Given the description of an element on the screen output the (x, y) to click on. 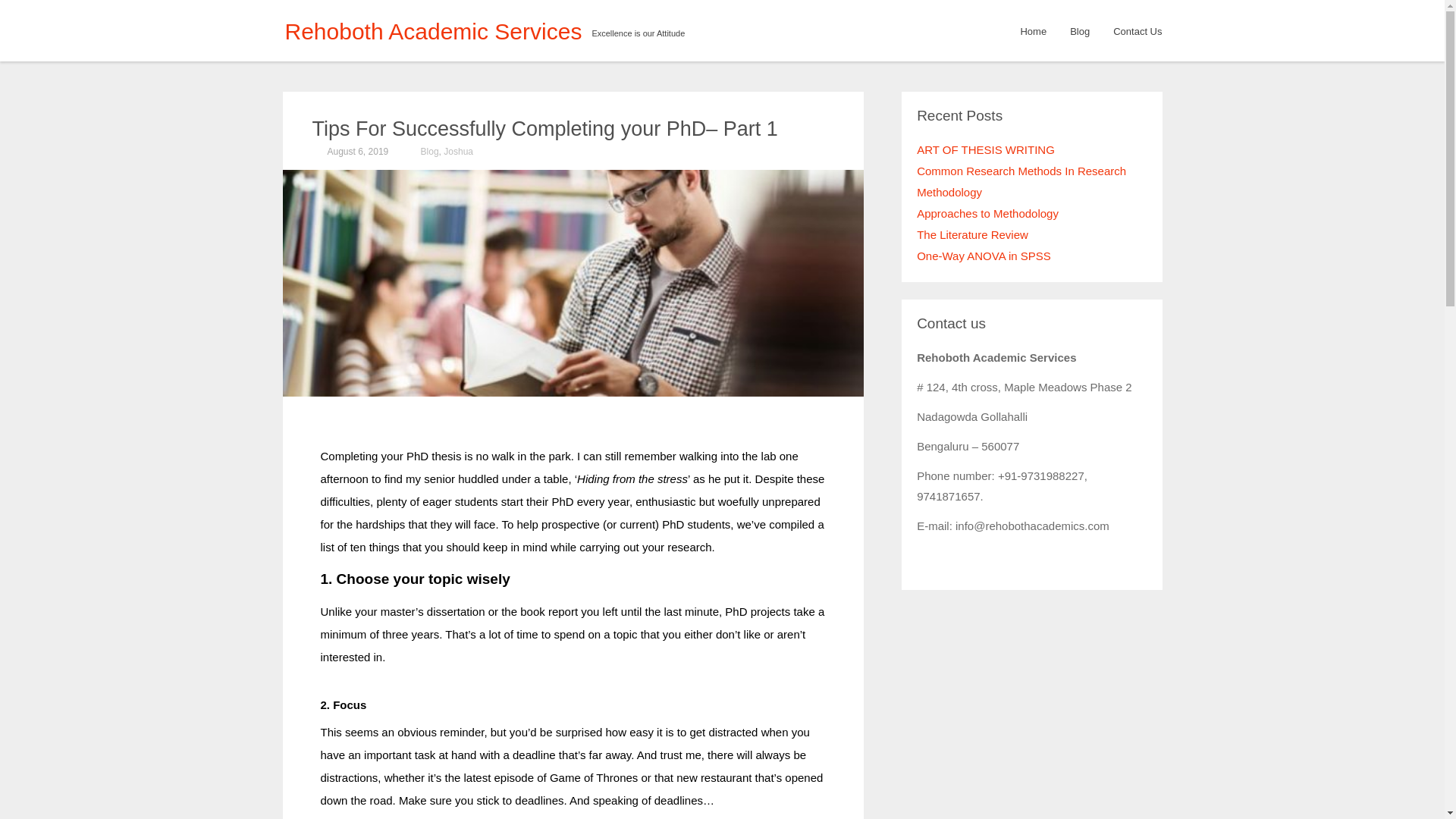
Blog (1079, 30)
Contact Us (1137, 30)
Rehoboth Academic Services (433, 31)
ART OF THESIS WRITING (985, 149)
Home (1033, 30)
The Literature Review (972, 234)
Blog (429, 151)
Common Research Methods In Research Methodology (1021, 181)
Approaches to Methodology (987, 213)
Joshua (458, 151)
